Given the description of an element on the screen output the (x, y) to click on. 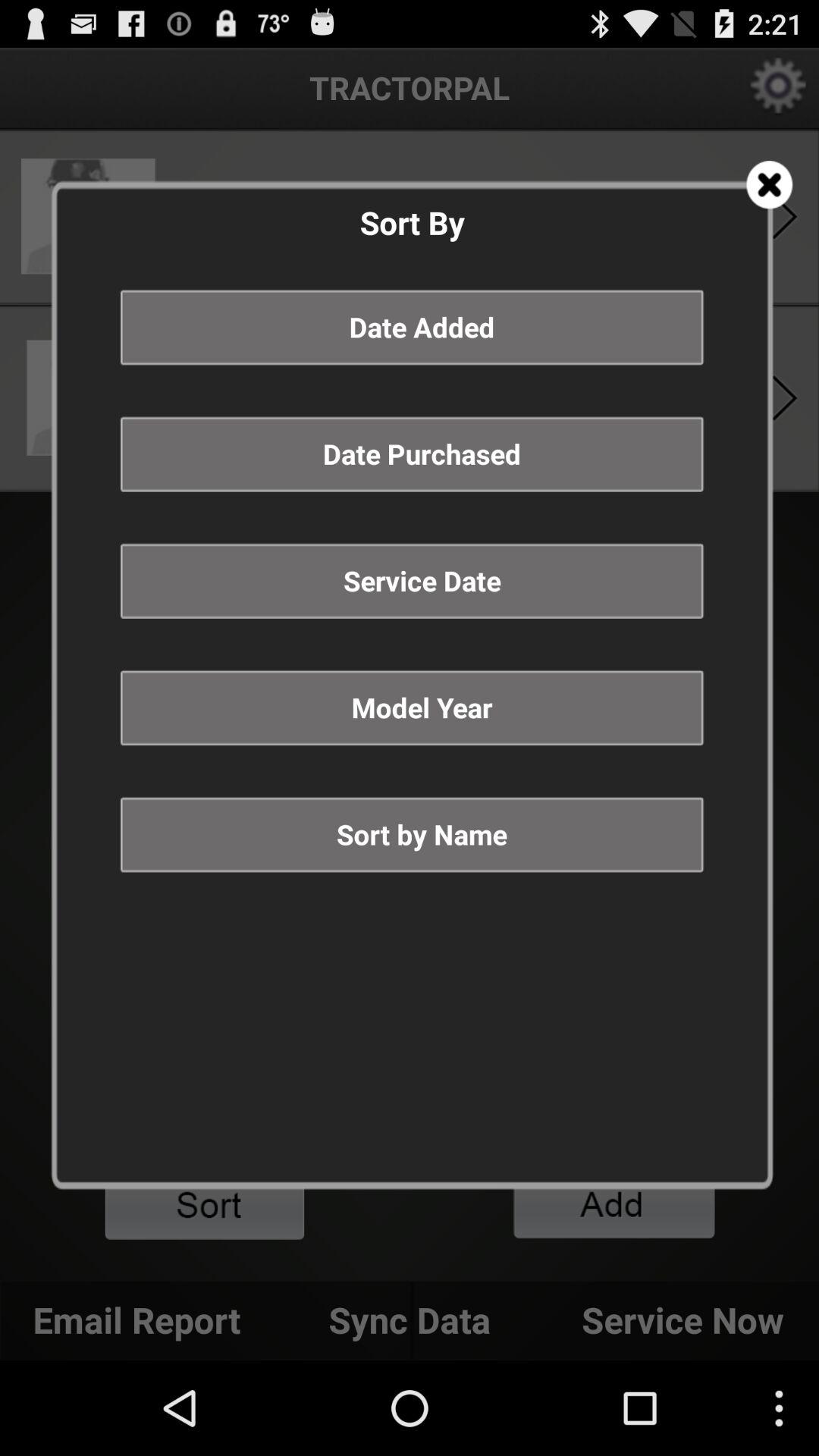
close menu (769, 184)
